Given the description of an element on the screen output the (x, y) to click on. 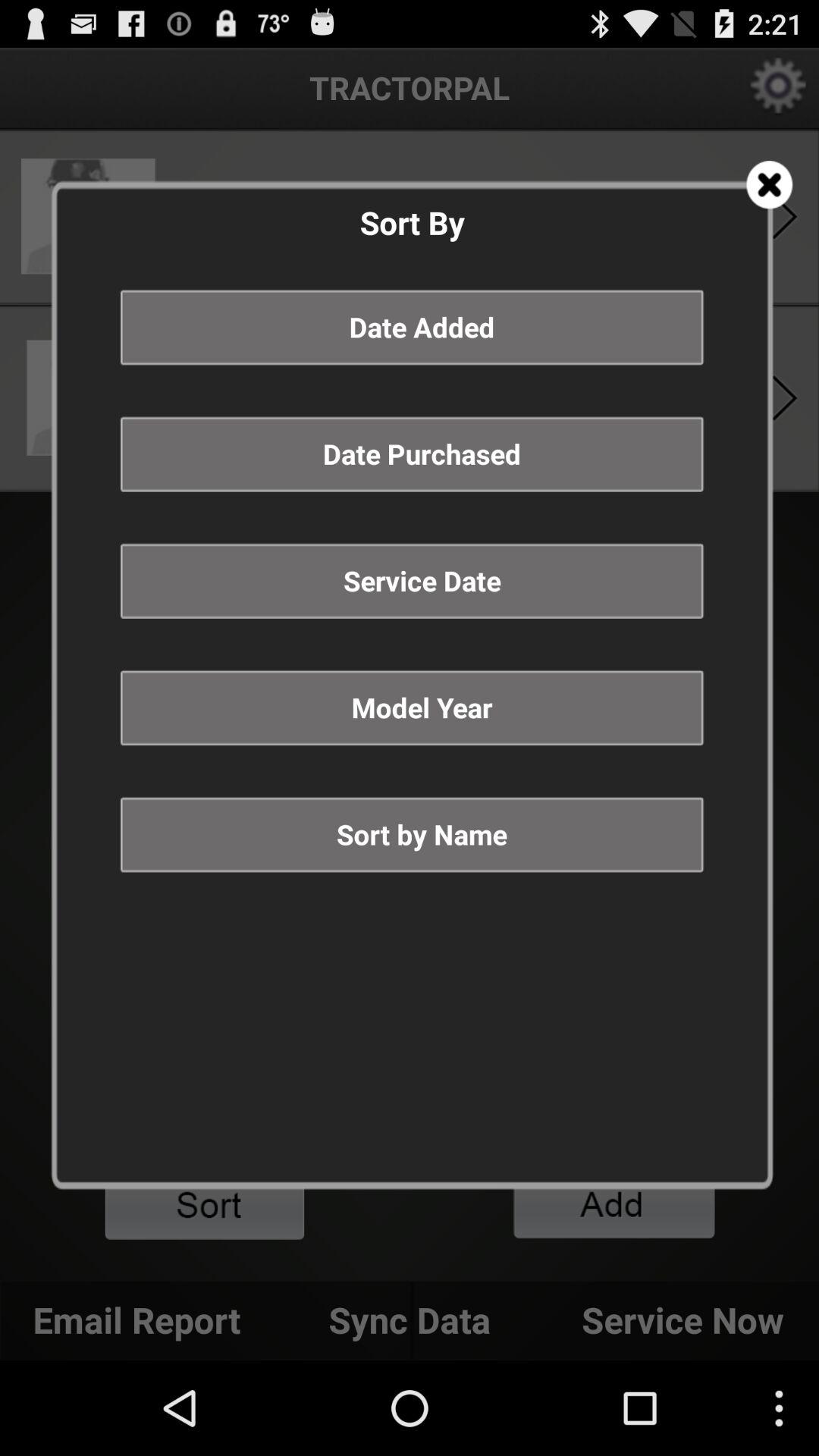
close menu (769, 184)
